Given the description of an element on the screen output the (x, y) to click on. 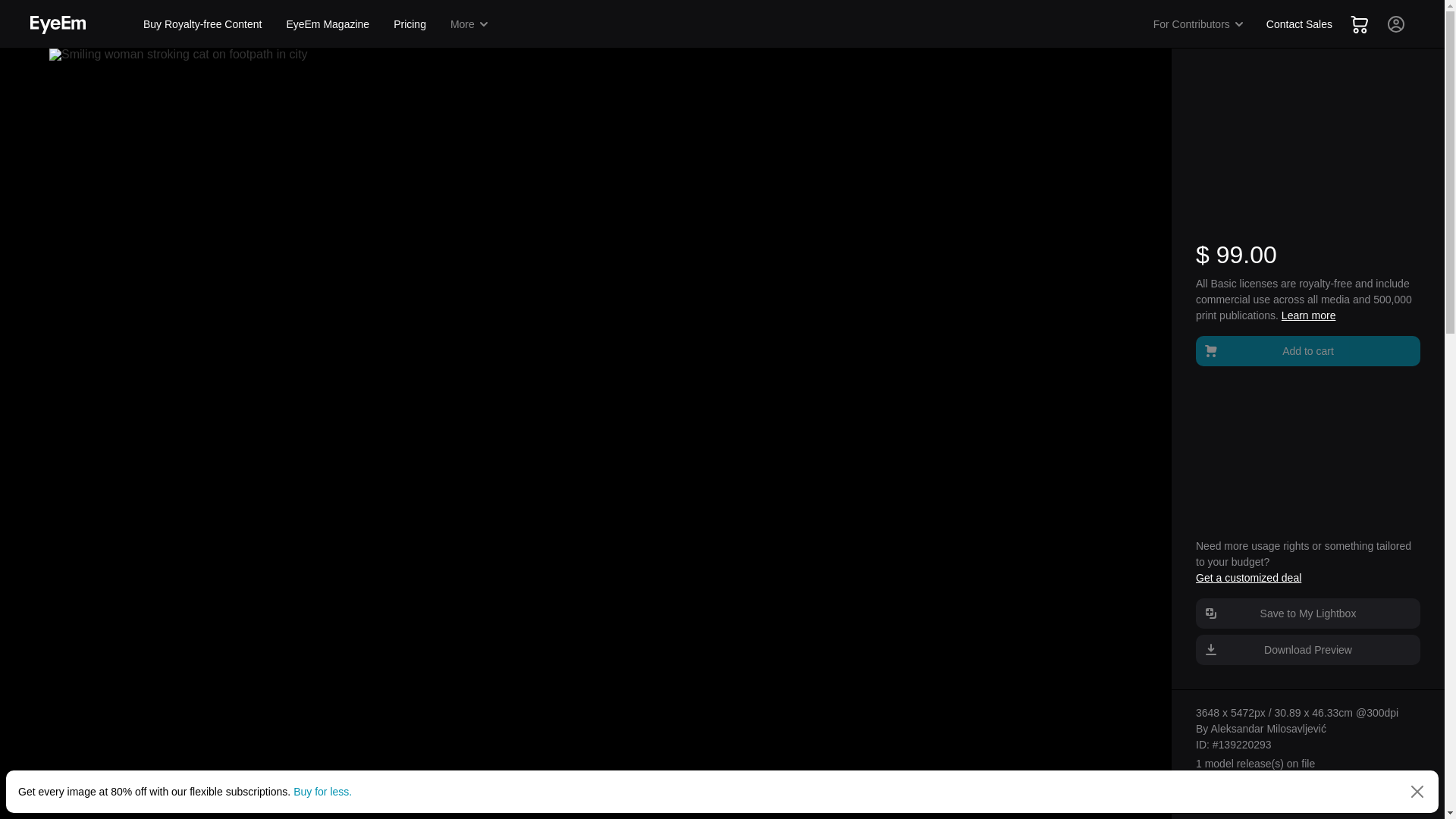
EyeEm Magazine (327, 24)
Pricing (409, 24)
For Contributors (1198, 24)
Save to My Lightbox (1308, 613)
More (470, 24)
Add to cart (1308, 349)
Contact Sales (1298, 24)
Cart (1358, 24)
Buy for less. (323, 791)
Buy Royalty-free Content (201, 24)
Learn more (1308, 315)
Download Preview (1308, 649)
